Given the description of an element on the screen output the (x, y) to click on. 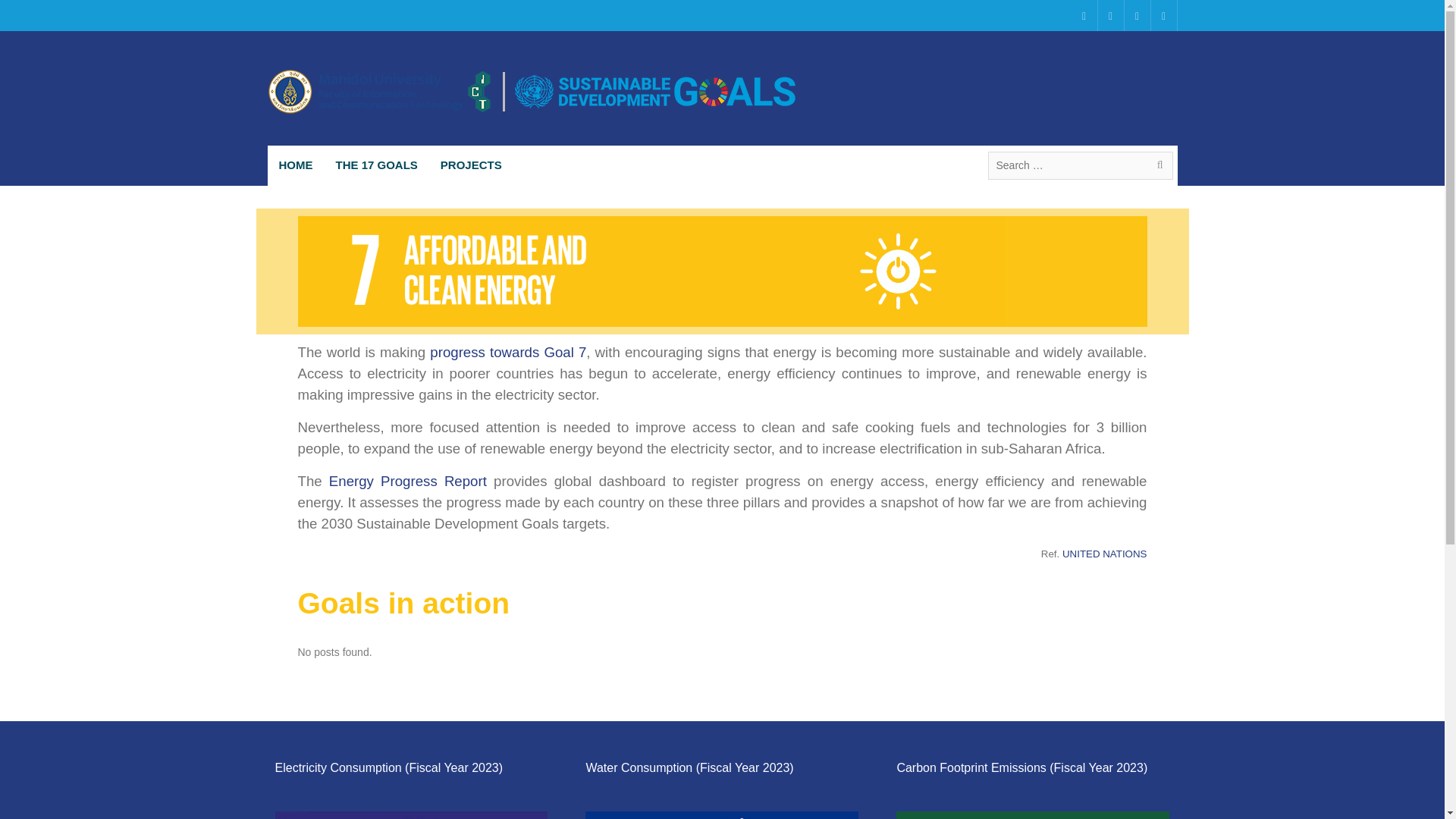
PROJECTS (471, 165)
Energy Progress Report (407, 480)
THE 17 GOALS (376, 165)
UNITED NATIONS (1104, 552)
progress towards Goal 7 (507, 351)
HOME (294, 165)
